Given the description of an element on the screen output the (x, y) to click on. 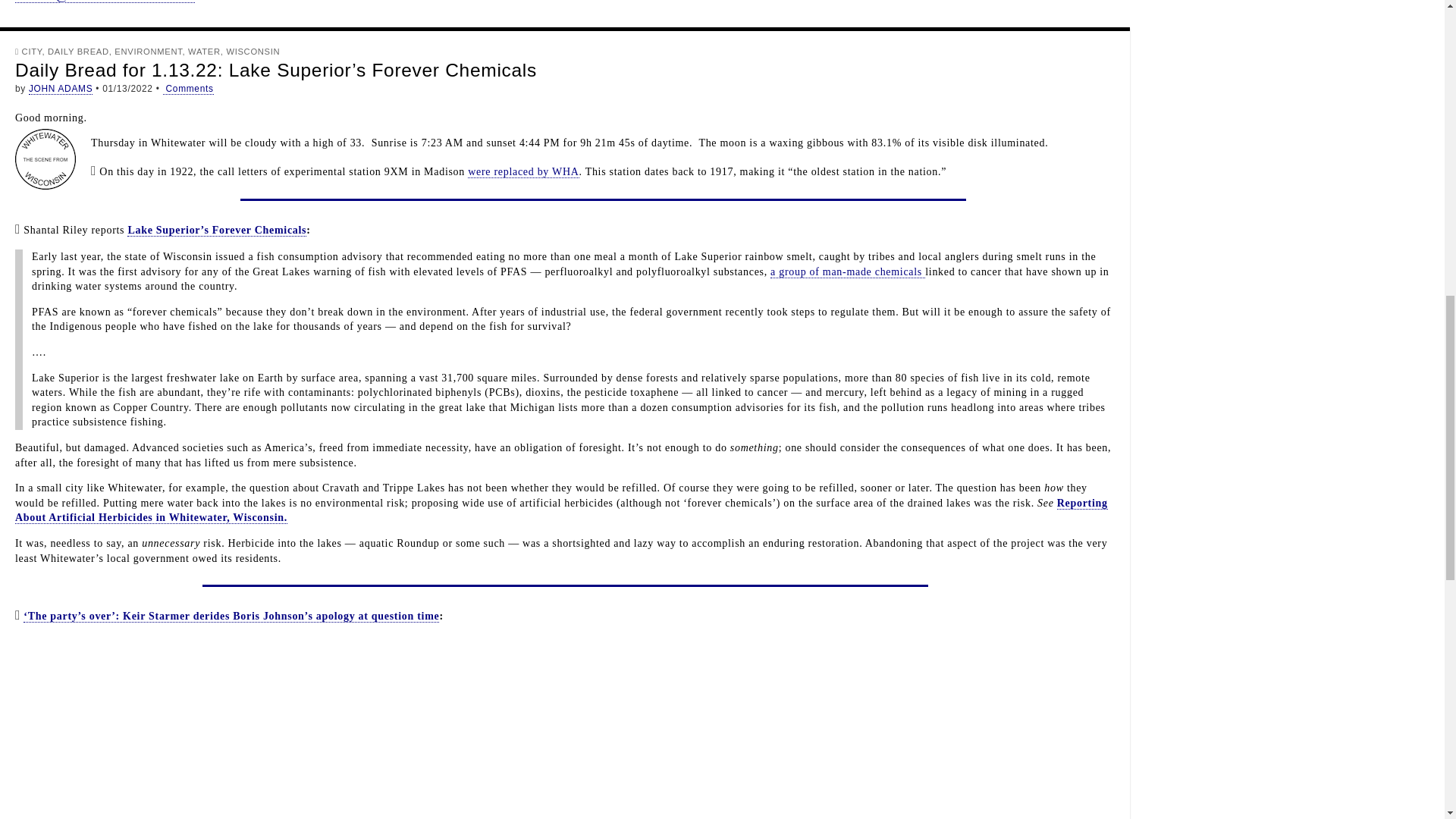
DAILY BREAD (78, 51)
Comments (188, 89)
WATER (204, 51)
JOHN ADAMS (61, 89)
were replaced by WHA (522, 172)
WISCONSIN (252, 51)
Posts by JOHN ADAMS (61, 89)
ENVIRONMENT (148, 51)
CITY (31, 51)
a group of man-made chemicals (847, 272)
